Given the description of an element on the screen output the (x, y) to click on. 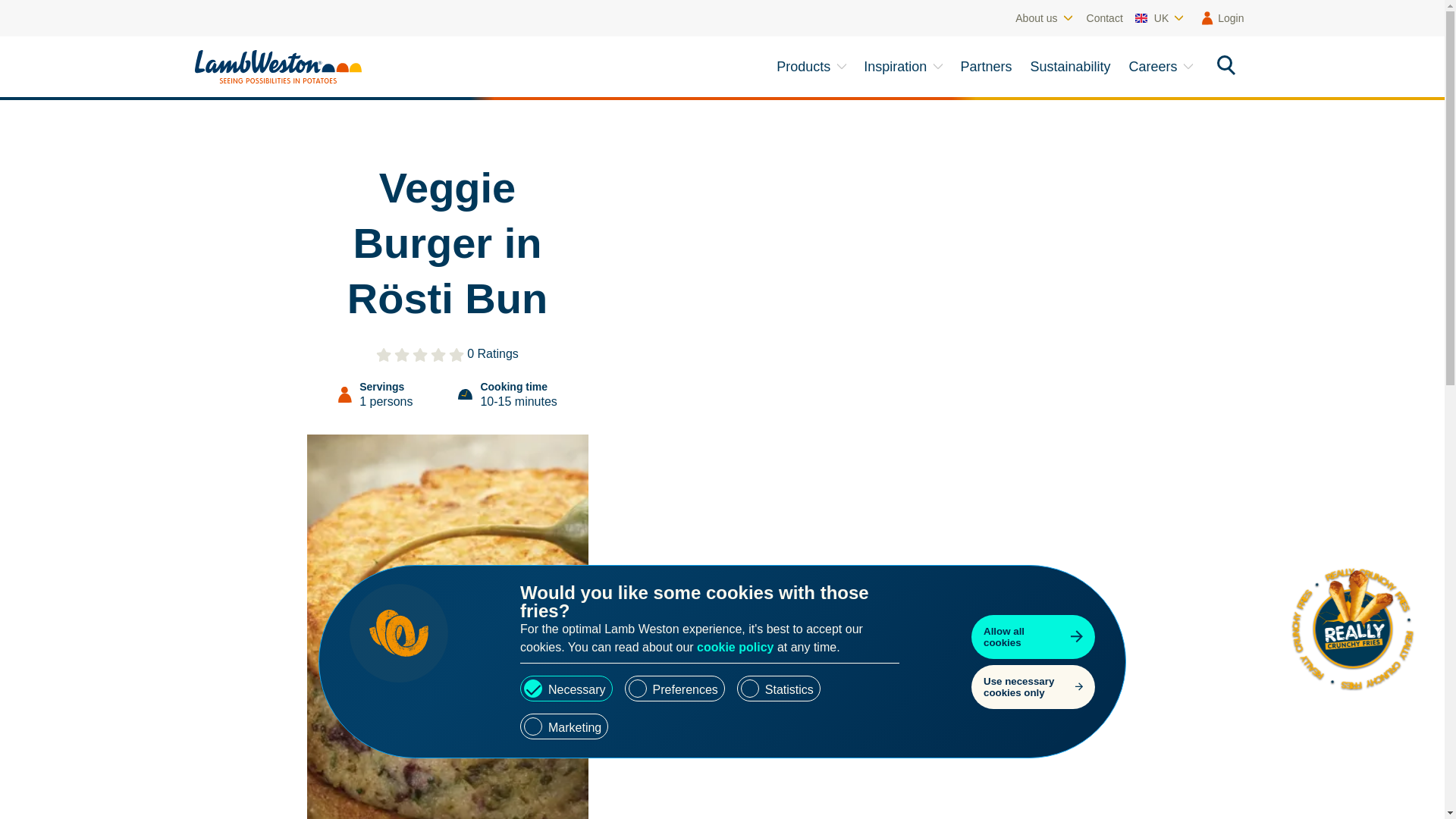
Allow all cookies (1032, 636)
Use necessary cookies only (1032, 686)
UK (1160, 18)
Products (813, 66)
About us (1044, 18)
Login (1220, 18)
Inspiration (905, 66)
cookie policy (735, 646)
Contact (1104, 18)
